Given the description of an element on the screen output the (x, y) to click on. 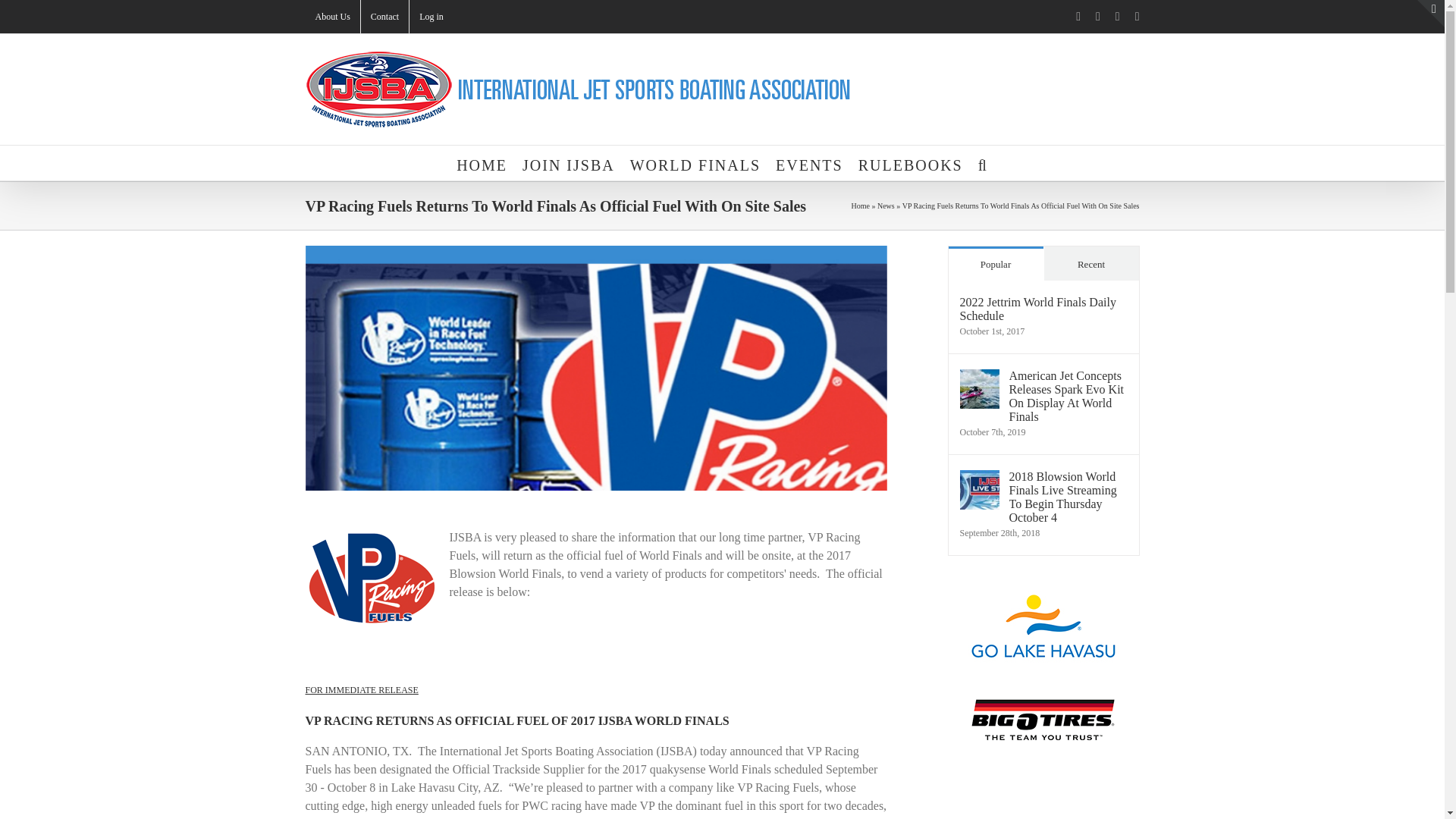
About Us (331, 16)
Log in (430, 16)
News (886, 205)
Home (859, 205)
WORLD FINALS (695, 162)
Contact (385, 16)
RULEBOOKS (910, 162)
HOME (481, 162)
EVENTS (809, 162)
JOIN IJSBA (568, 162)
